Given the description of an element on the screen output the (x, y) to click on. 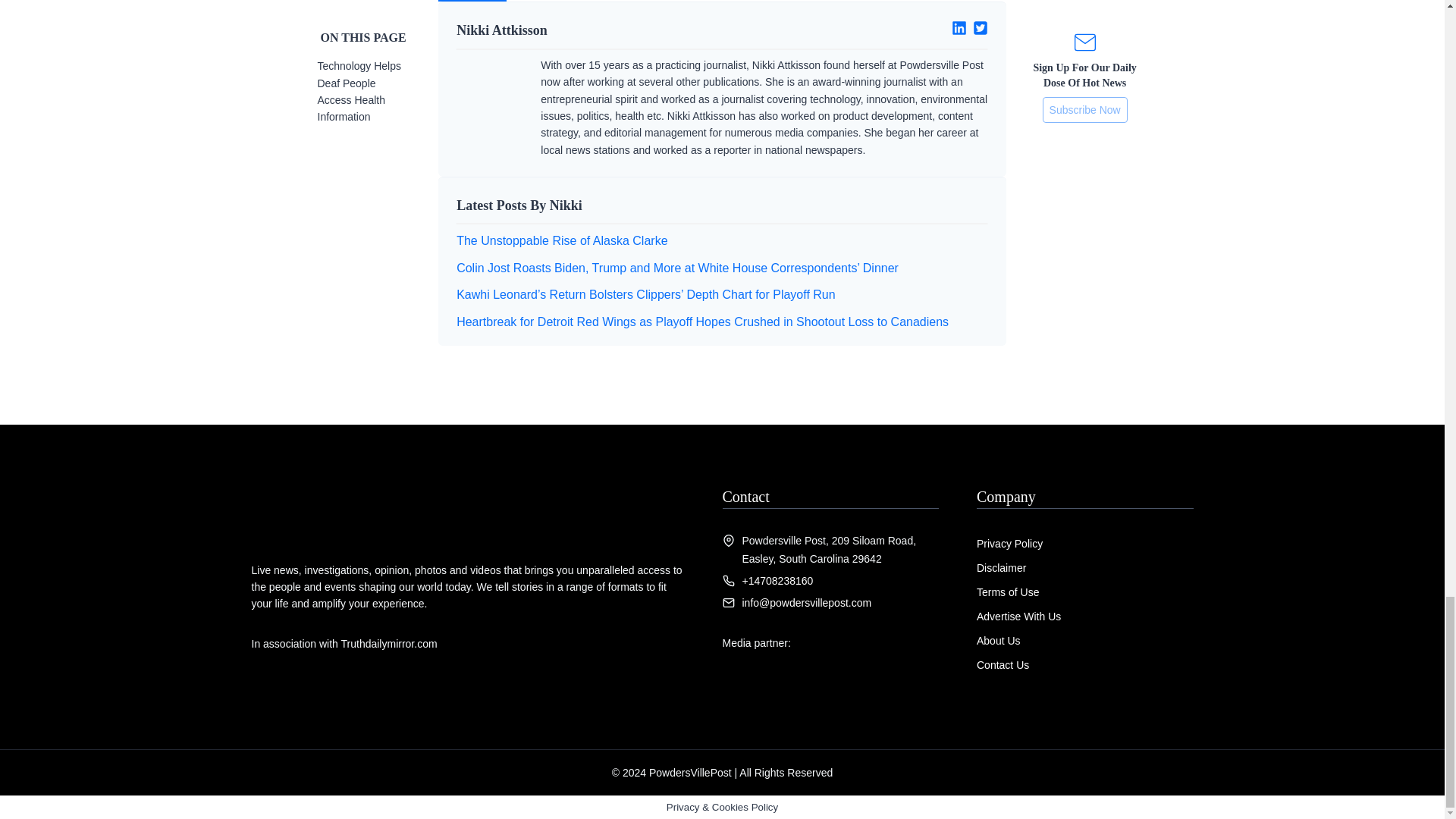
Author (472, 0)
Nikki Attkisson (583, 30)
Terms of Use (1007, 591)
The Unstoppable Rise of Alaska Clarke (561, 240)
About Us (998, 639)
Disclaimer (1001, 567)
Recent Posts (566, 0)
Privacy Policy (1009, 542)
Contact Us (1002, 664)
